Given the description of an element on the screen output the (x, y) to click on. 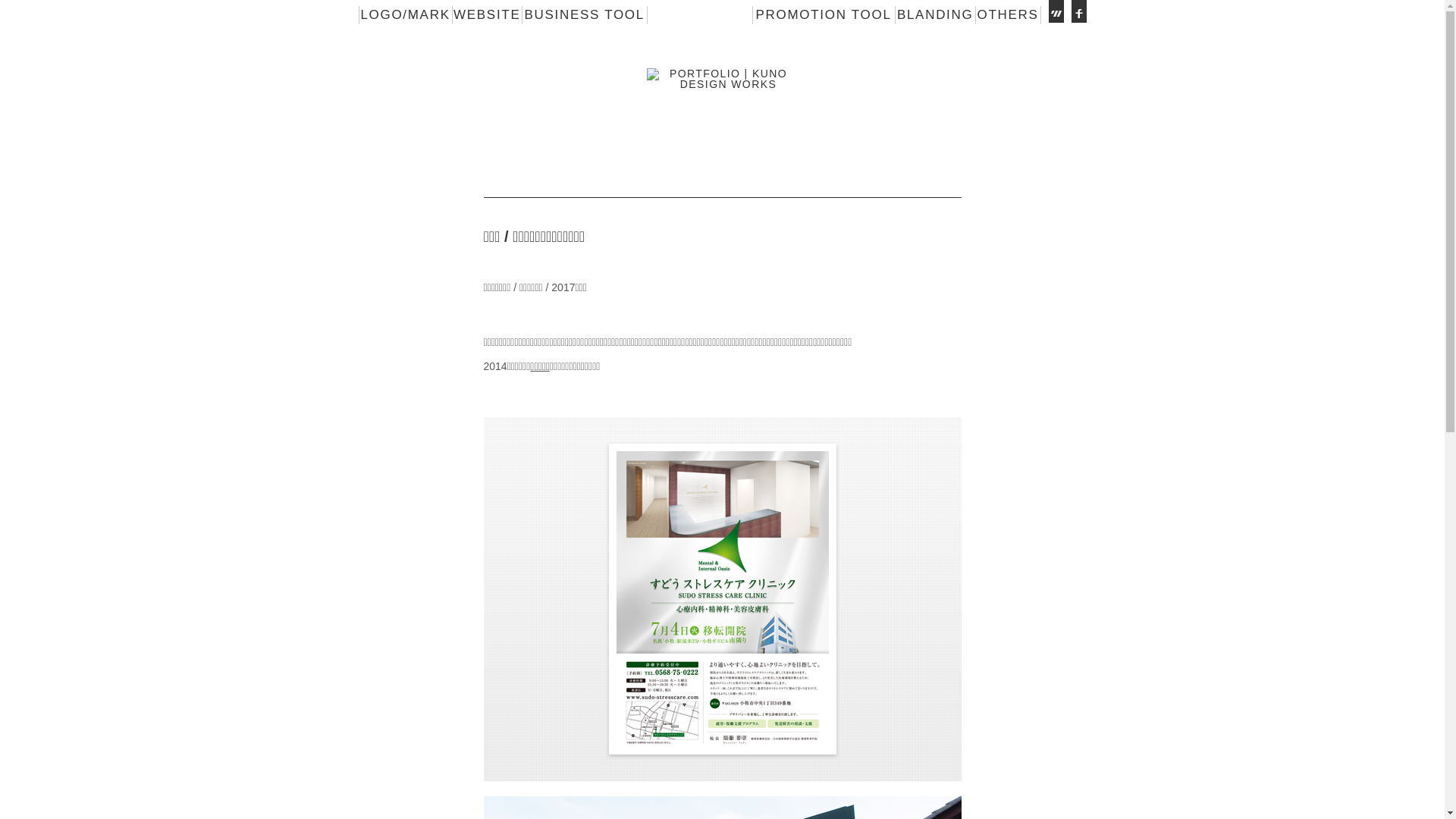
PROMOTION TOOL Element type: text (823, 15)
LOGO/MARK Element type: text (405, 15)
OTHERS Element type: text (1007, 15)
BLANDING Element type: text (935, 15)
BUSINESS TOOL Element type: text (584, 15)
WEBSITE Element type: text (486, 15)
